Given the description of an element on the screen output the (x, y) to click on. 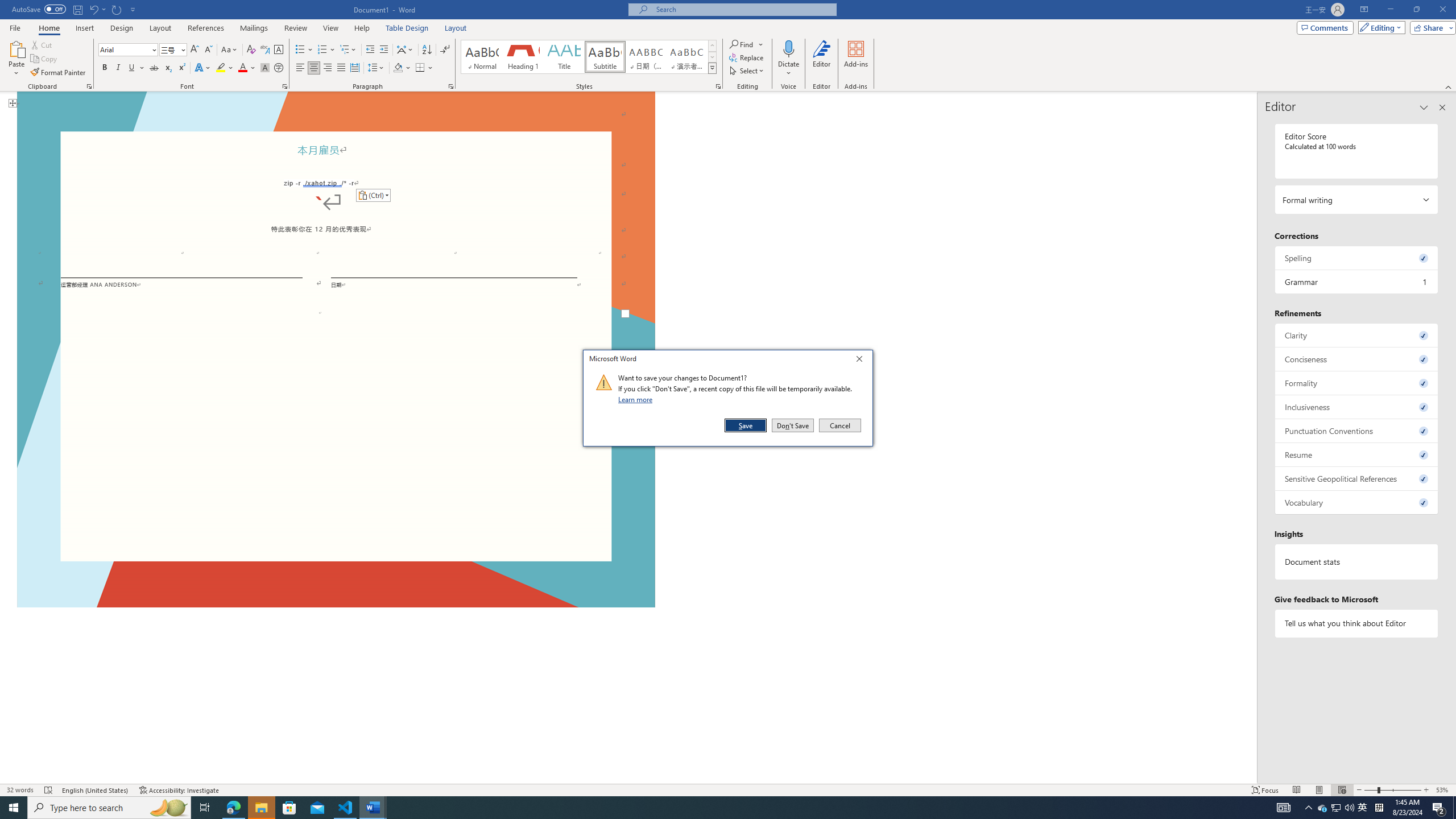
Zoom 53% (1443, 790)
Microsoft Edge - 1 running window (233, 807)
Running applications (700, 807)
Resume, 0 issues. Press space or enter to review items. (1356, 454)
